Given the description of an element on the screen output the (x, y) to click on. 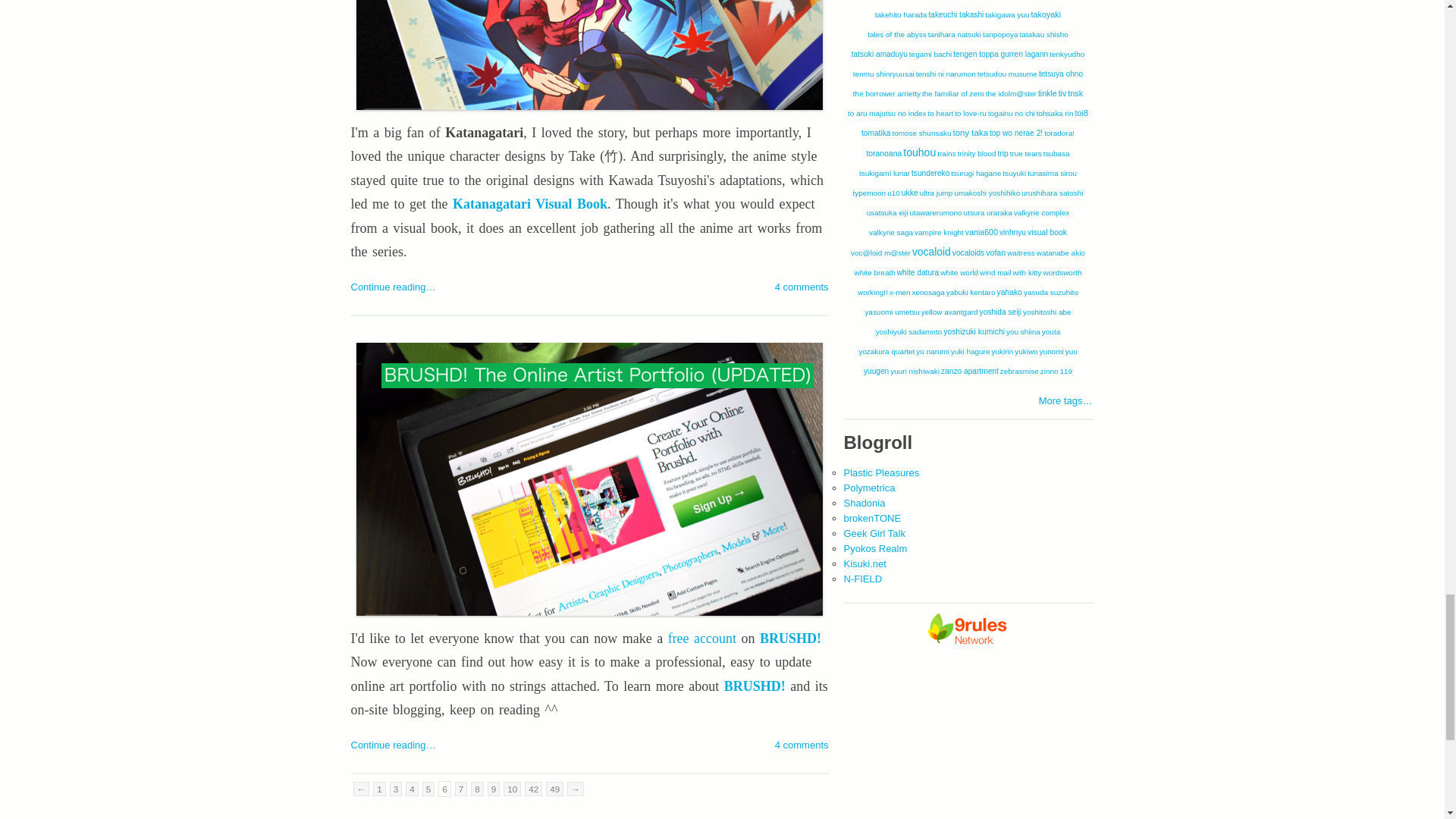
View comments (801, 286)
View comments (801, 745)
